Given the description of an element on the screen output the (x, y) to click on. 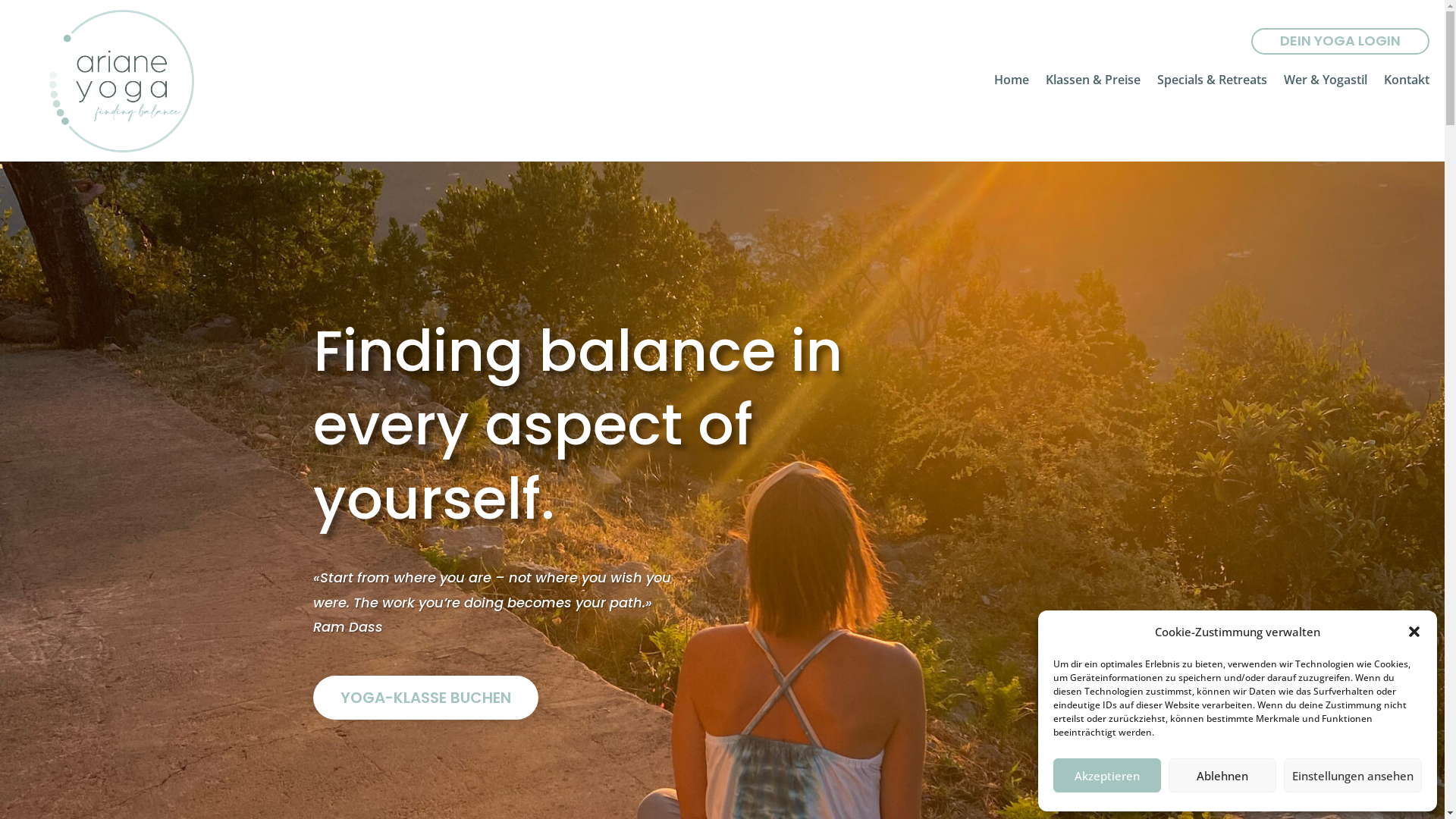
Klassen & Preise Element type: text (1092, 82)
Logo_arianeyoga Element type: hover (121, 80)
Specials & Retreats Element type: text (1212, 82)
Wer & Yogastil Element type: text (1325, 82)
Kontakt Element type: text (1406, 82)
YOGA-KLASSE BUCHEN Element type: text (424, 697)
Einstellungen ansehen Element type: text (1352, 775)
DEIN YOGA LOGIN Element type: text (1340, 41)
Ablehnen Element type: text (1222, 775)
Home Element type: text (1011, 82)
Akzeptieren Element type: text (1107, 775)
